Given the description of an element on the screen output the (x, y) to click on. 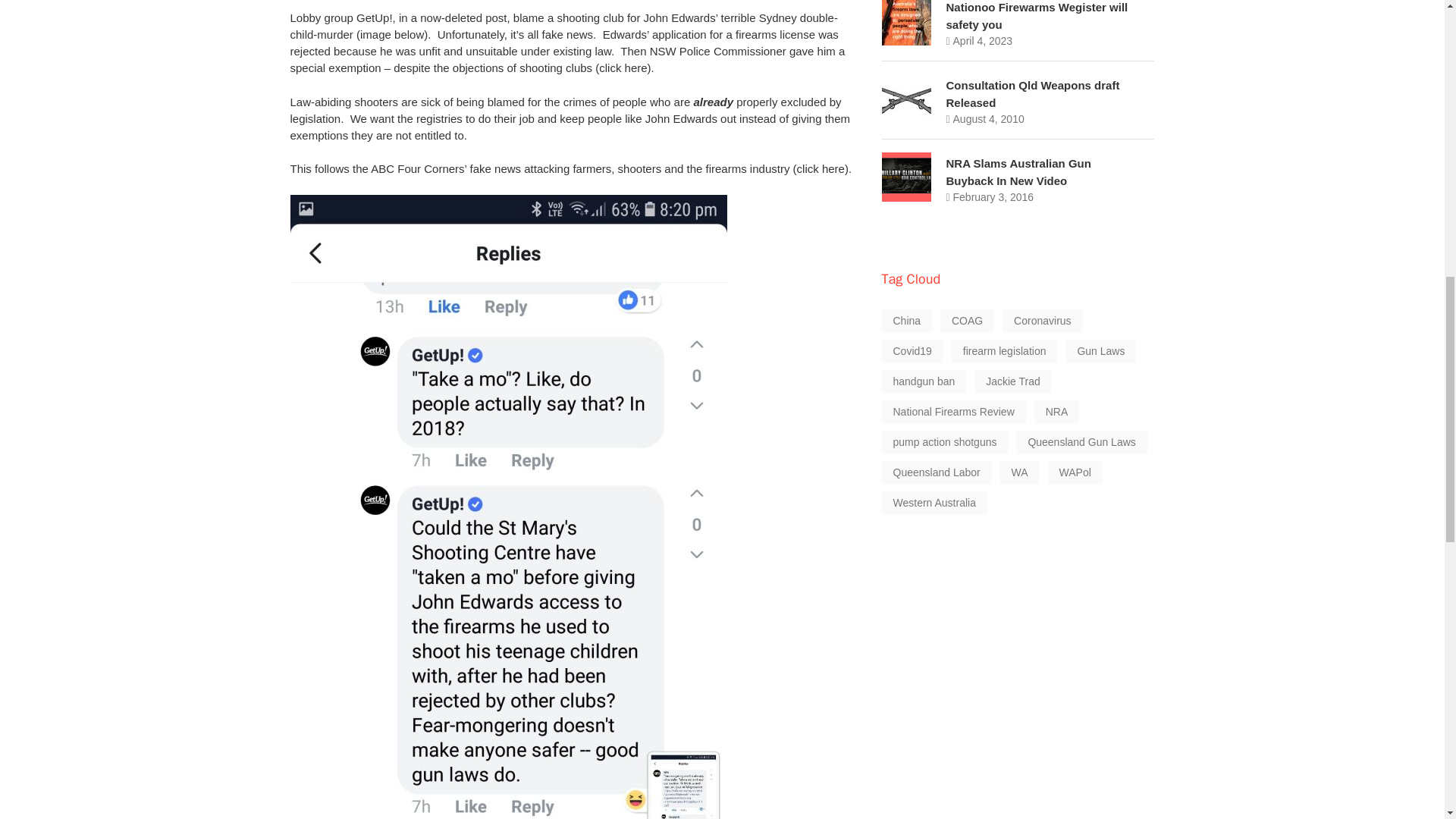
NRA Slams Australian Gun Buyback In New Video (1018, 172)
Nationoo Firewarms Wegister will safety you (1037, 15)
Consultation Qld Weapons draft Released (1032, 93)
Nationoo Firewarms Wegister will safety you (1037, 15)
